Given the description of an element on the screen output the (x, y) to click on. 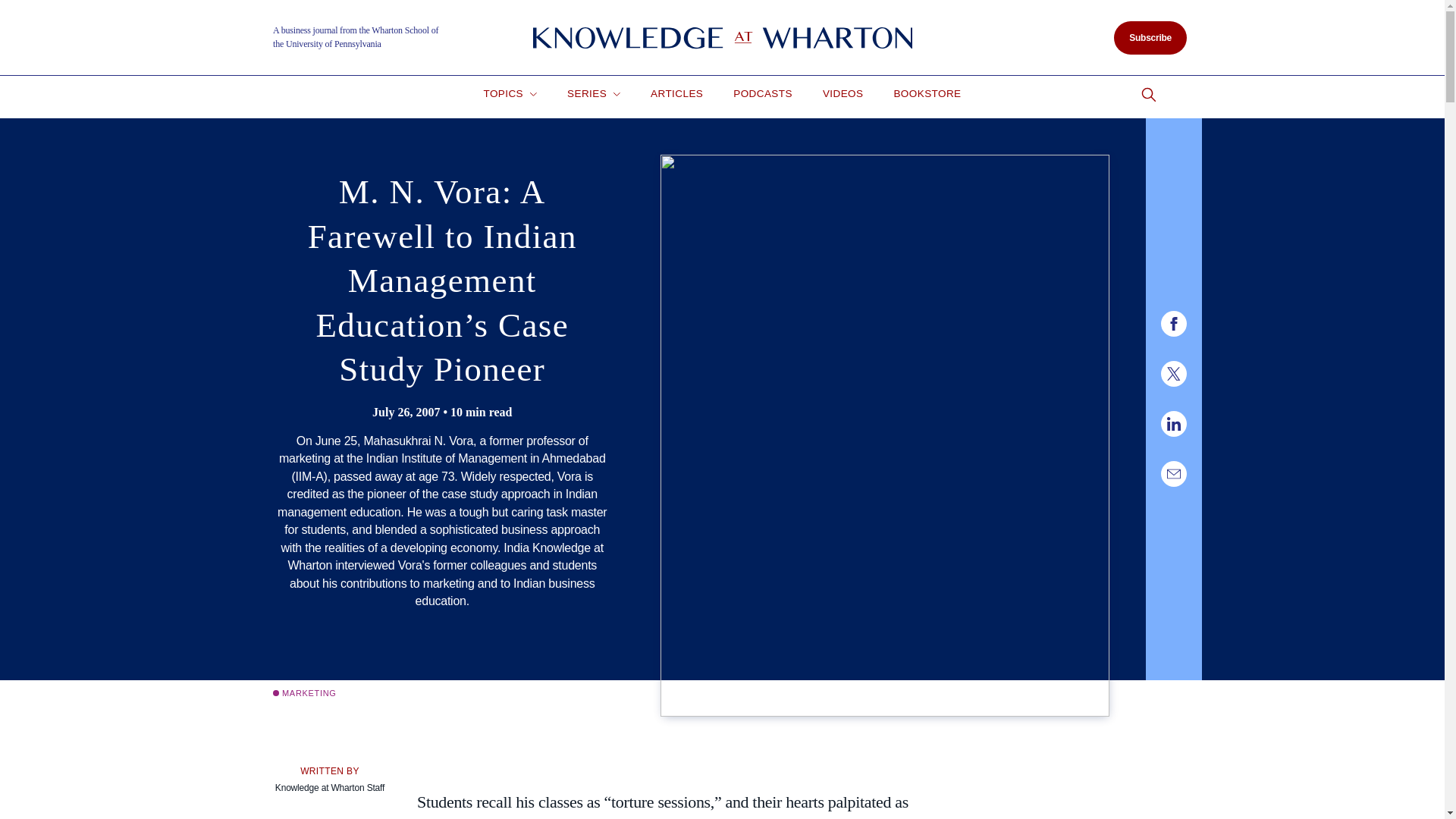
Knowledge at Wharton (721, 37)
Subscribe (1149, 37)
Share this page on Twitter (1173, 373)
Share this page on Facebook (1173, 323)
Share this page on LinkedIn (1173, 423)
Share this page by email (1173, 473)
Go to site search (1148, 94)
